Given the description of an element on the screen output the (x, y) to click on. 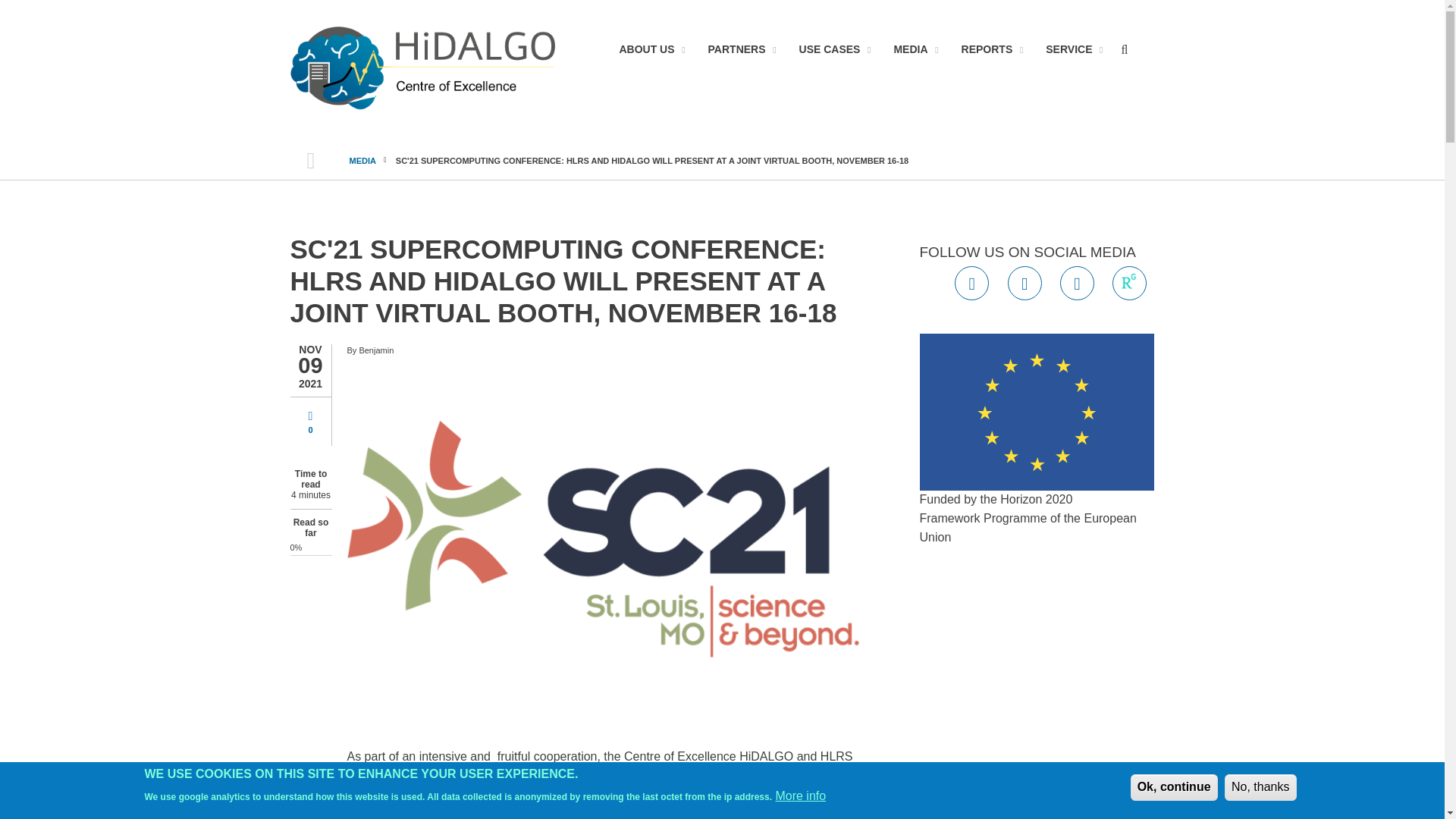
Home (421, 67)
Customer Service (1068, 50)
Pilot Applications For Our Technology (829, 50)
ABOUT US (646, 50)
Our Partners (736, 50)
SERVICE (1068, 50)
PARTNERS (736, 50)
REPORTS (987, 50)
WPs and Deliverables (987, 50)
MEDIA (910, 50)
USE CASES (829, 50)
